Given the description of an element on the screen output the (x, y) to click on. 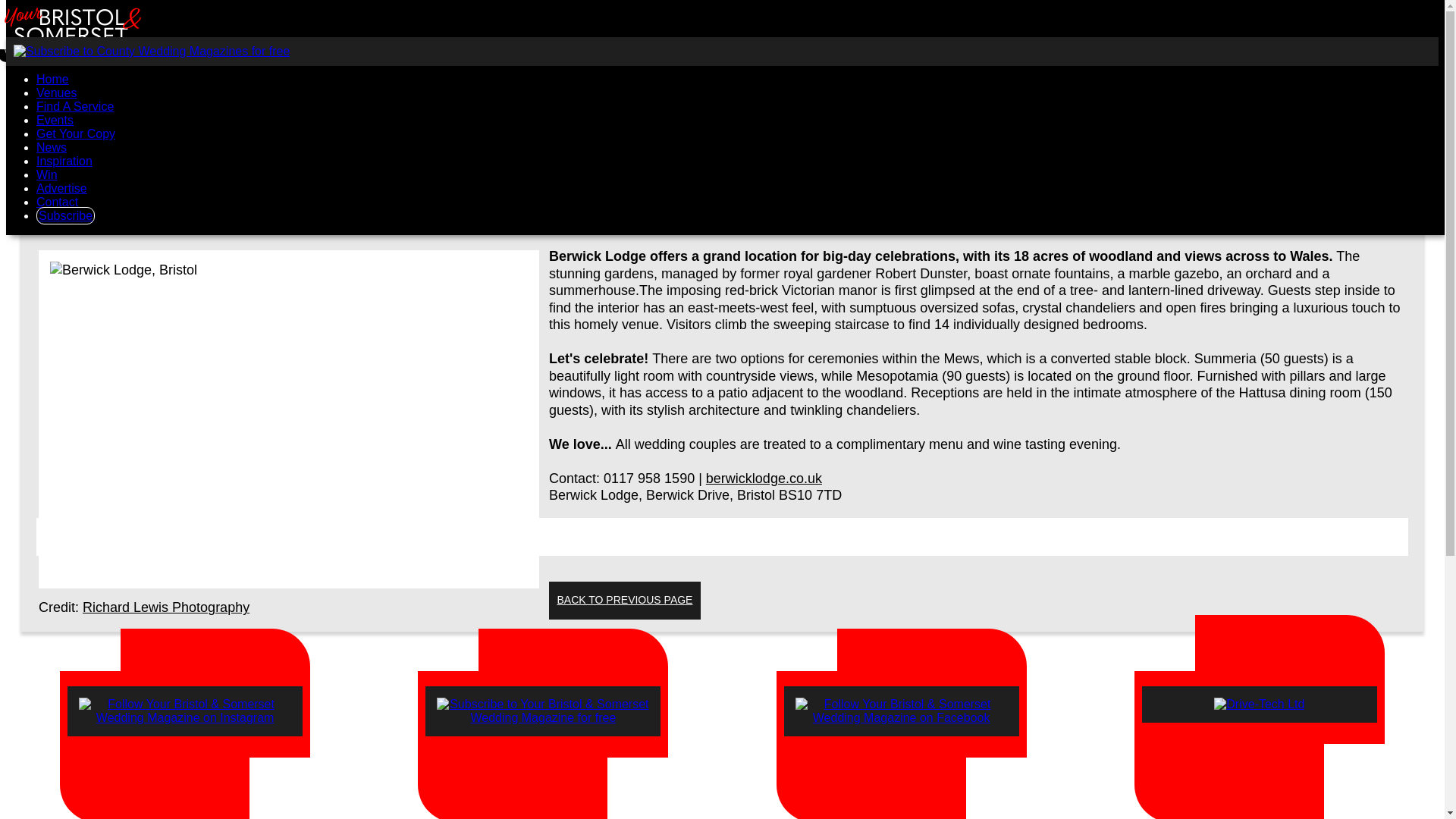
Back to previous page (624, 600)
Events (55, 119)
Your Bristol and Somerset Wedding (52, 78)
Subscribe to County Wedding Magazines for free (151, 51)
Subscribe (65, 215)
Your Bristol and Somerset Wedding (76, 55)
Home (52, 78)
berwicklodge.co.uk (764, 478)
Find A Service (74, 106)
